Given the description of an element on the screen output the (x, y) to click on. 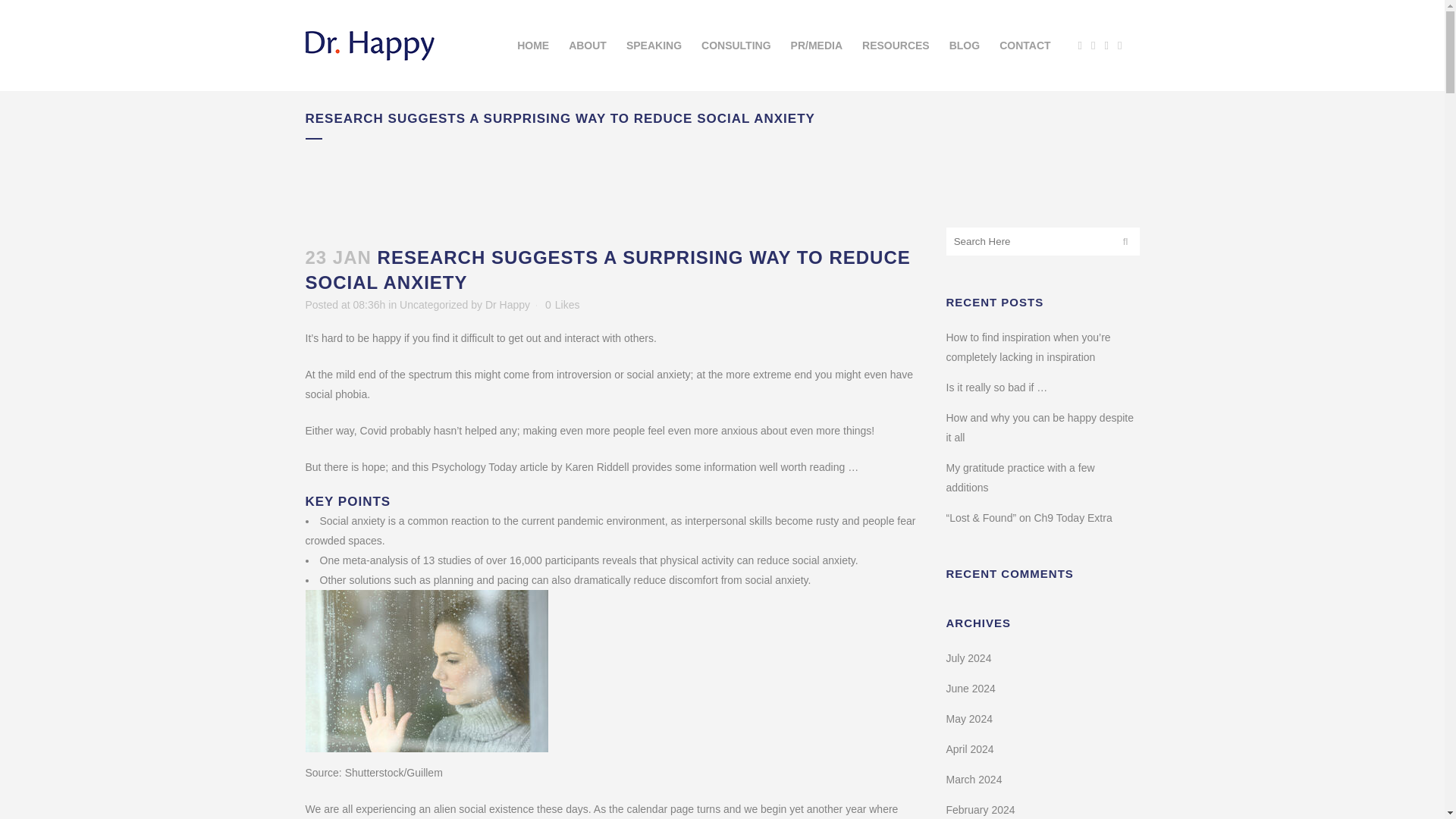
Dr Happy (506, 304)
June 2024 (970, 688)
My gratitude practice with a few additions (1020, 477)
RESOURCES (895, 45)
Uncategorized (432, 304)
0 Likes (561, 304)
How and why you can be happy despite it all (1040, 427)
Like this (561, 304)
July 2024 (968, 657)
CONSULTING (735, 45)
